Given the description of an element on the screen output the (x, y) to click on. 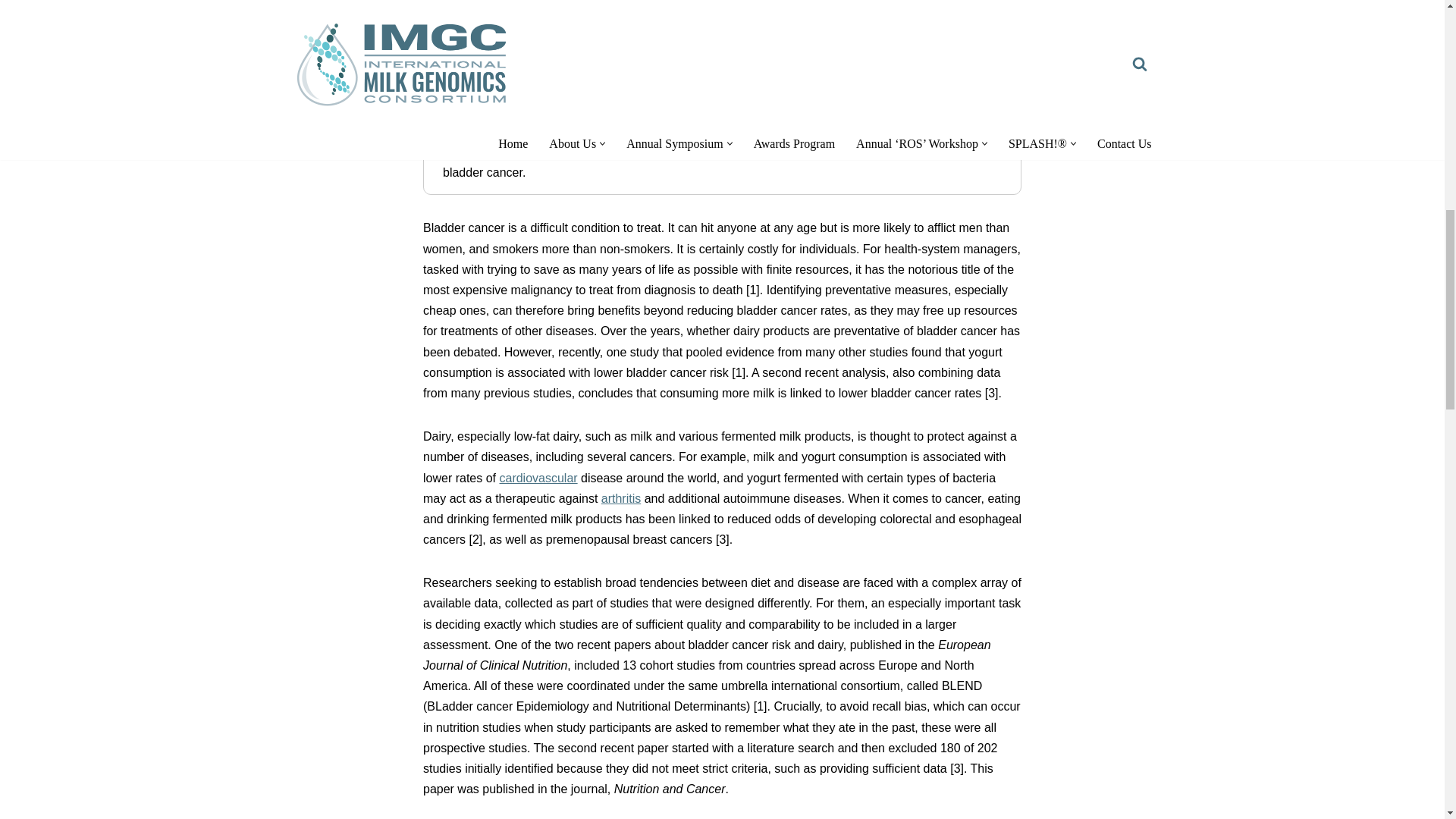
arthritis (620, 498)
cardiovascular (537, 477)
